Given the description of an element on the screen output the (x, y) to click on. 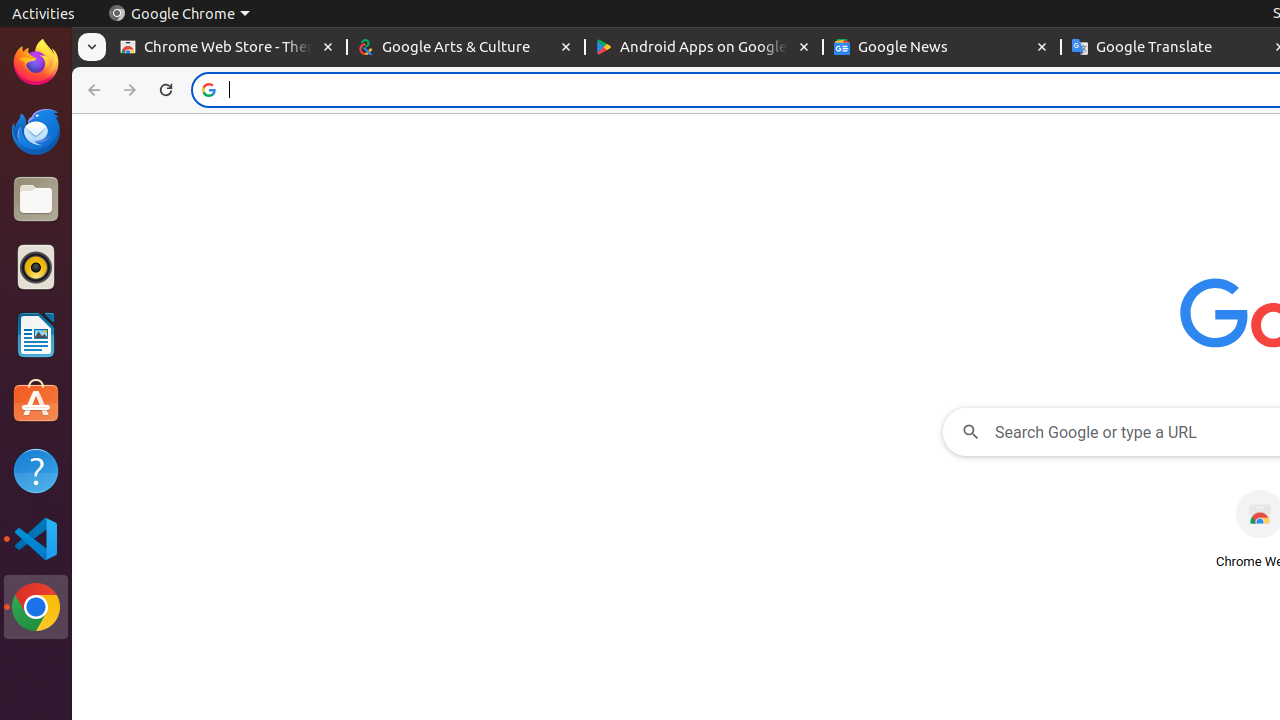
Back Element type: push-button (91, 90)
Help Element type: push-button (36, 470)
Visual Studio Code Element type: push-button (36, 538)
Thunderbird Mail Element type: push-button (36, 131)
LibreOffice Writer Element type: push-button (36, 334)
